Given the description of an element on the screen output the (x, y) to click on. 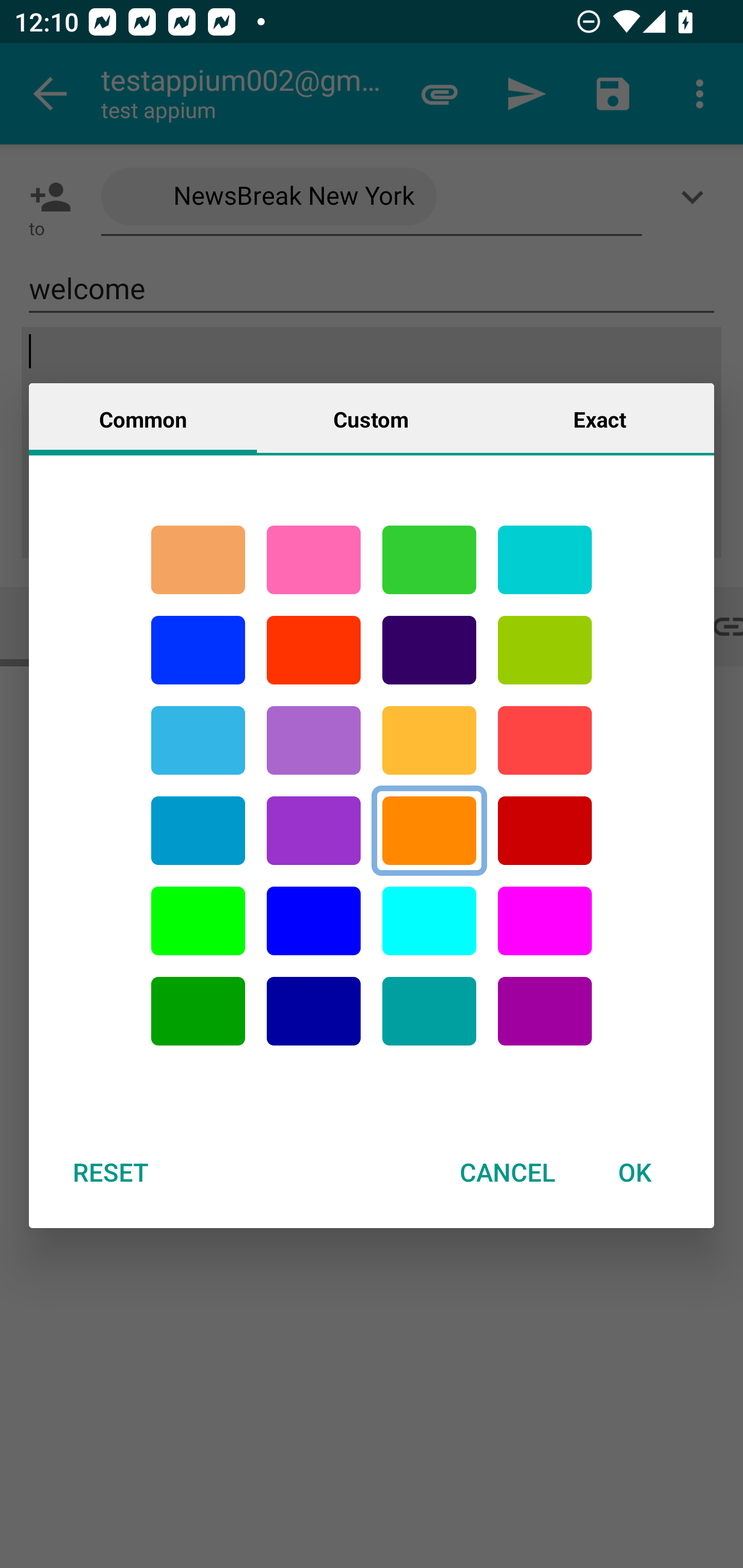
Common (142, 418)
Custom (371, 418)
Exact (599, 418)
Peach (197, 559)
Pink (313, 559)
Green (429, 559)
Cyan (544, 559)
Blue (197, 649)
Red (313, 649)
Dark purple (429, 649)
Light green (544, 649)
Cyan (197, 739)
Purple (313, 739)
Light orange (429, 739)
Light red (544, 739)
Dark cyan (197, 830)
Purple (313, 830)
Orange (429, 830)
Dark red (544, 830)
Light green (197, 920)
Blue (313, 920)
Light cyan (429, 920)
Light purple (544, 920)
Dark green (197, 1010)
Dark blue (313, 1010)
Cyan (429, 1010)
Purple (544, 1010)
RESET (110, 1171)
CANCEL (507, 1171)
OK (634, 1171)
